Given the description of an element on the screen output the (x, y) to click on. 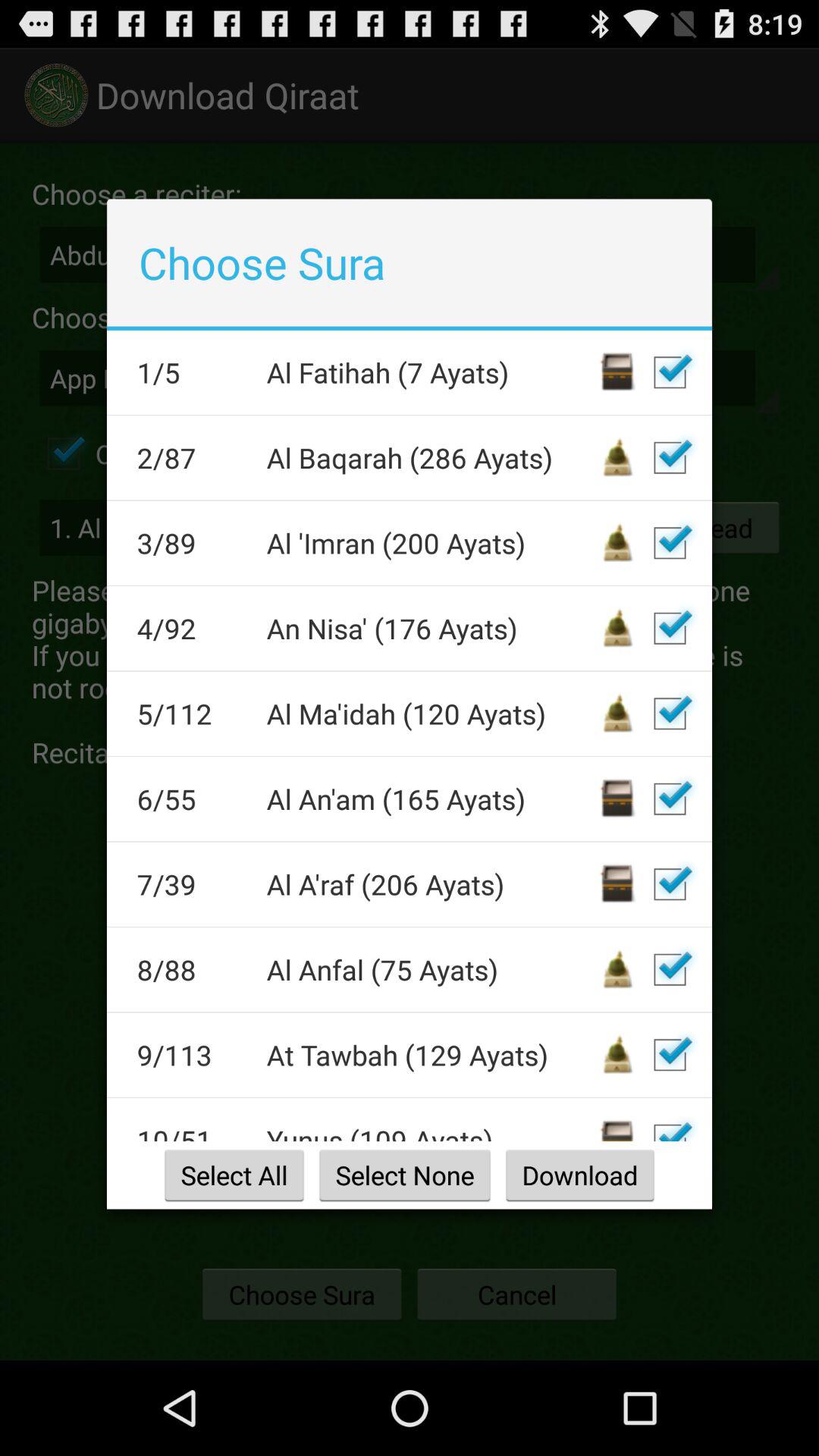
select for download (669, 884)
